Given the description of an element on the screen output the (x, y) to click on. 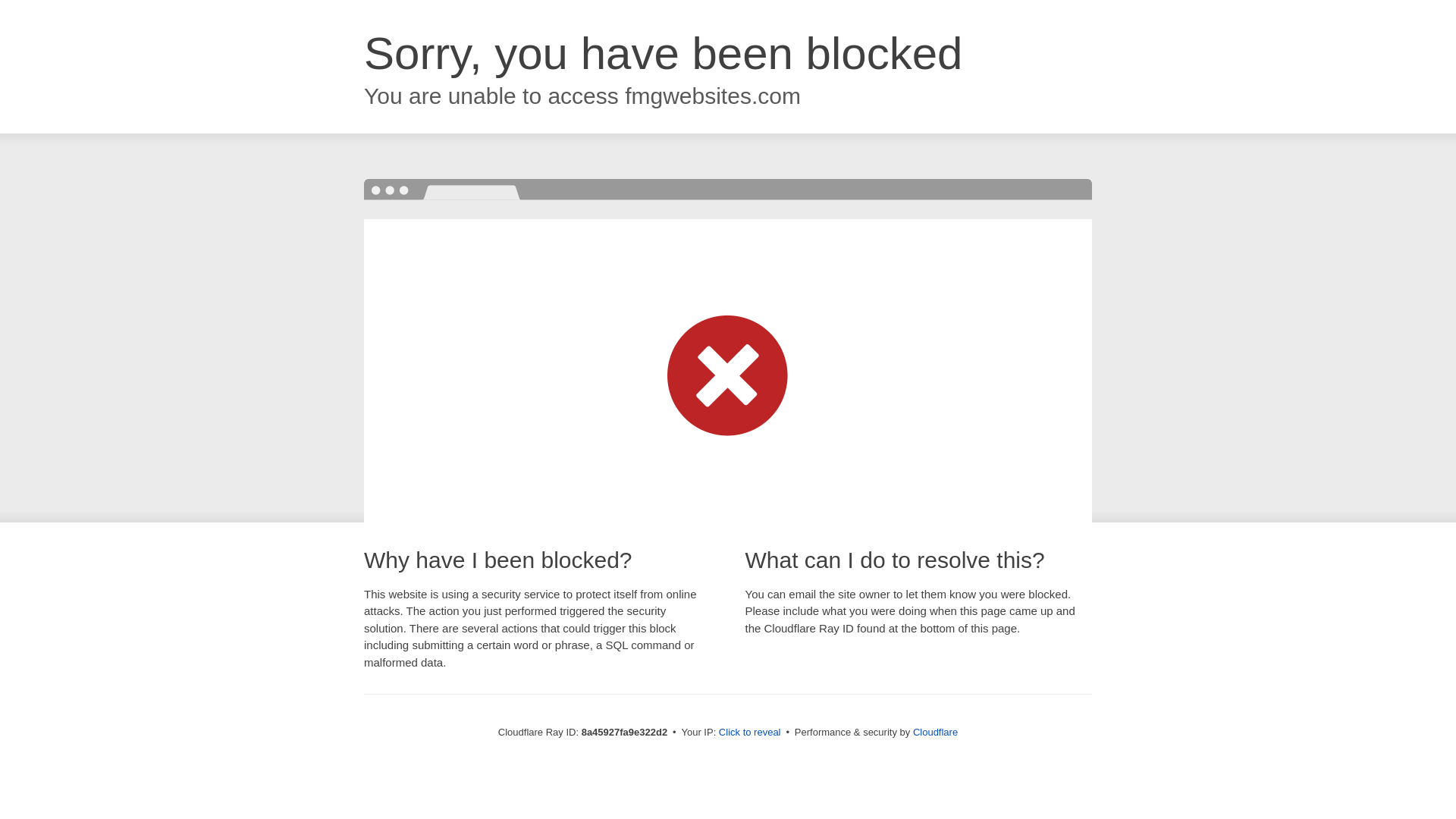
Cloudflare (935, 731)
Click to reveal (749, 732)
